Given the description of an element on the screen output the (x, y) to click on. 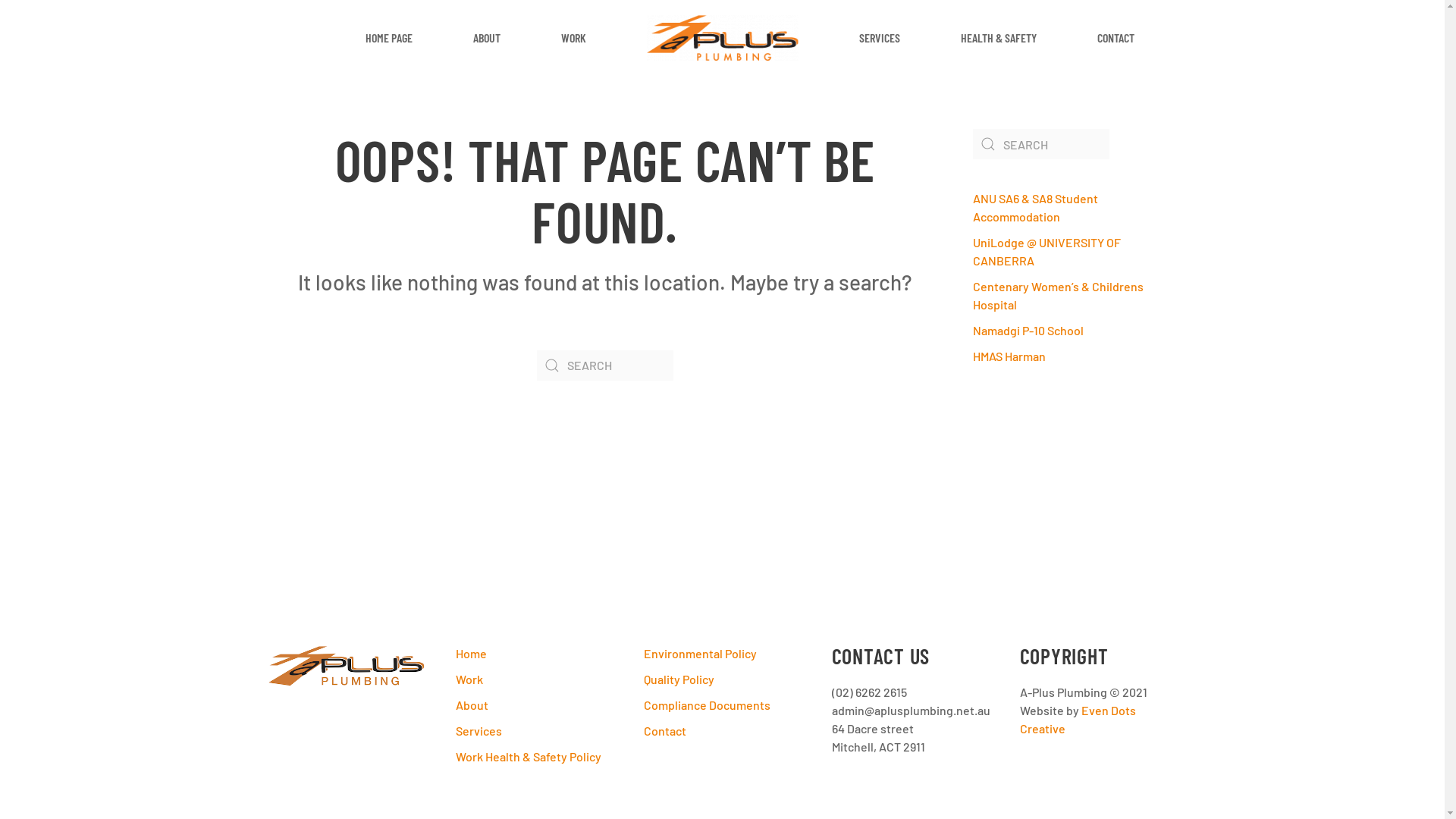
Quality Policy Element type: text (721, 679)
UniLodge @ UNIVERSITY OF CANBERRA Element type: text (1046, 251)
WORK Element type: text (573, 37)
HOME PAGE Element type: text (388, 37)
Compliance Documents Element type: text (721, 705)
SERVICES Element type: text (878, 37)
CONTACT Element type: text (1115, 37)
Contact Element type: text (721, 730)
Services Element type: text (533, 730)
Home Element type: text (533, 653)
Work Health & Safety Policy Element type: text (533, 756)
Work Element type: text (533, 679)
Environmental Policy Element type: text (721, 653)
About Element type: text (533, 705)
ABOUT Element type: text (486, 37)
HEALTH & SAFETY Element type: text (997, 37)
Namadgi P-10 School Element type: text (1027, 330)
Even Dots Creative Element type: text (1077, 718)
ANU SA6 & SA8 Student Accommodation Element type: text (1034, 207)
HMAS Harman Element type: text (1008, 355)
